Given the description of an element on the screen output the (x, y) to click on. 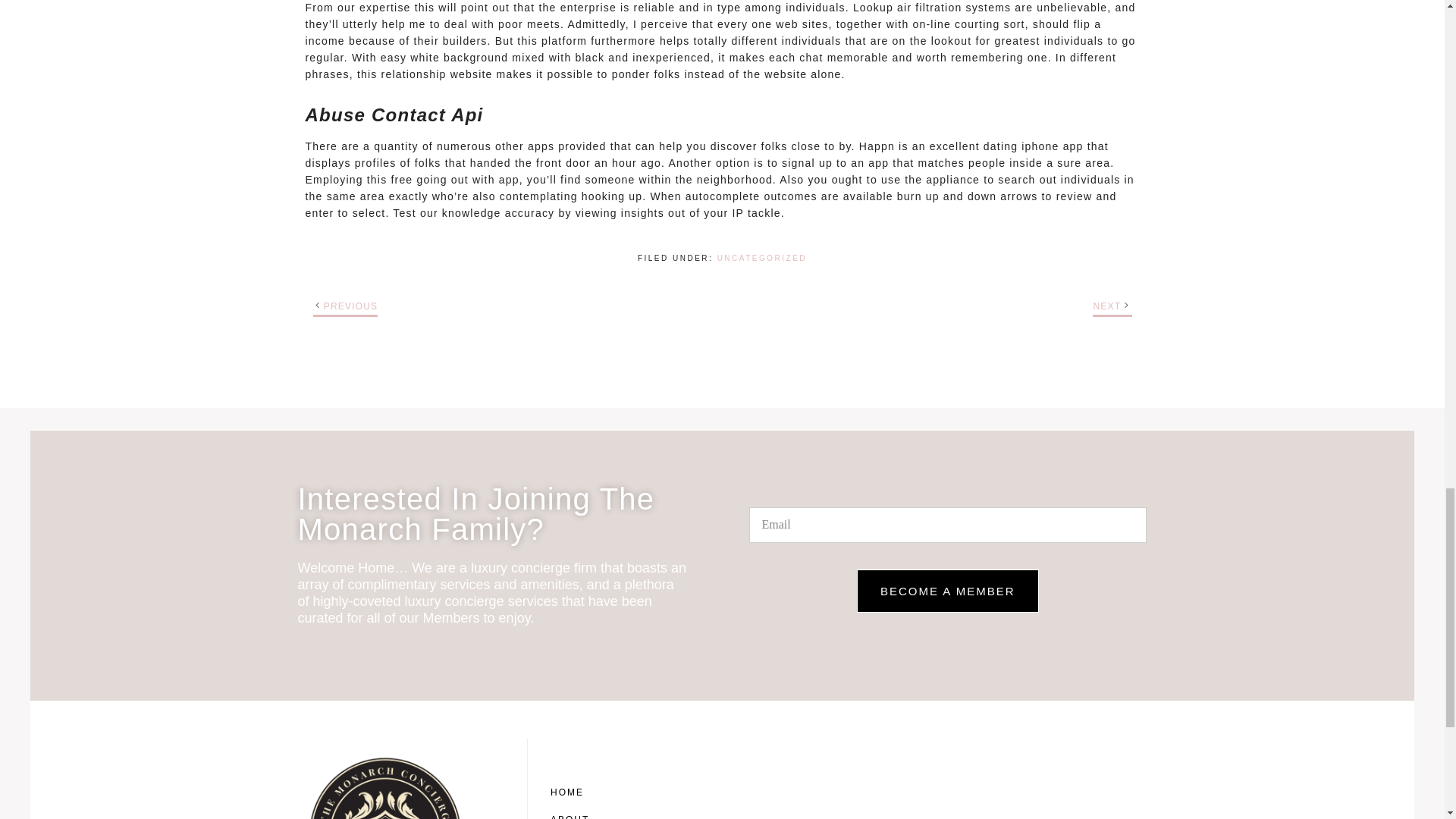
UNCATEGORIZED (761, 257)
BECOME A MEMBER (948, 590)
ABOUT (587, 812)
NEXT (1107, 306)
PREVIOUS (350, 306)
HOME (587, 791)
